Given the description of an element on the screen output the (x, y) to click on. 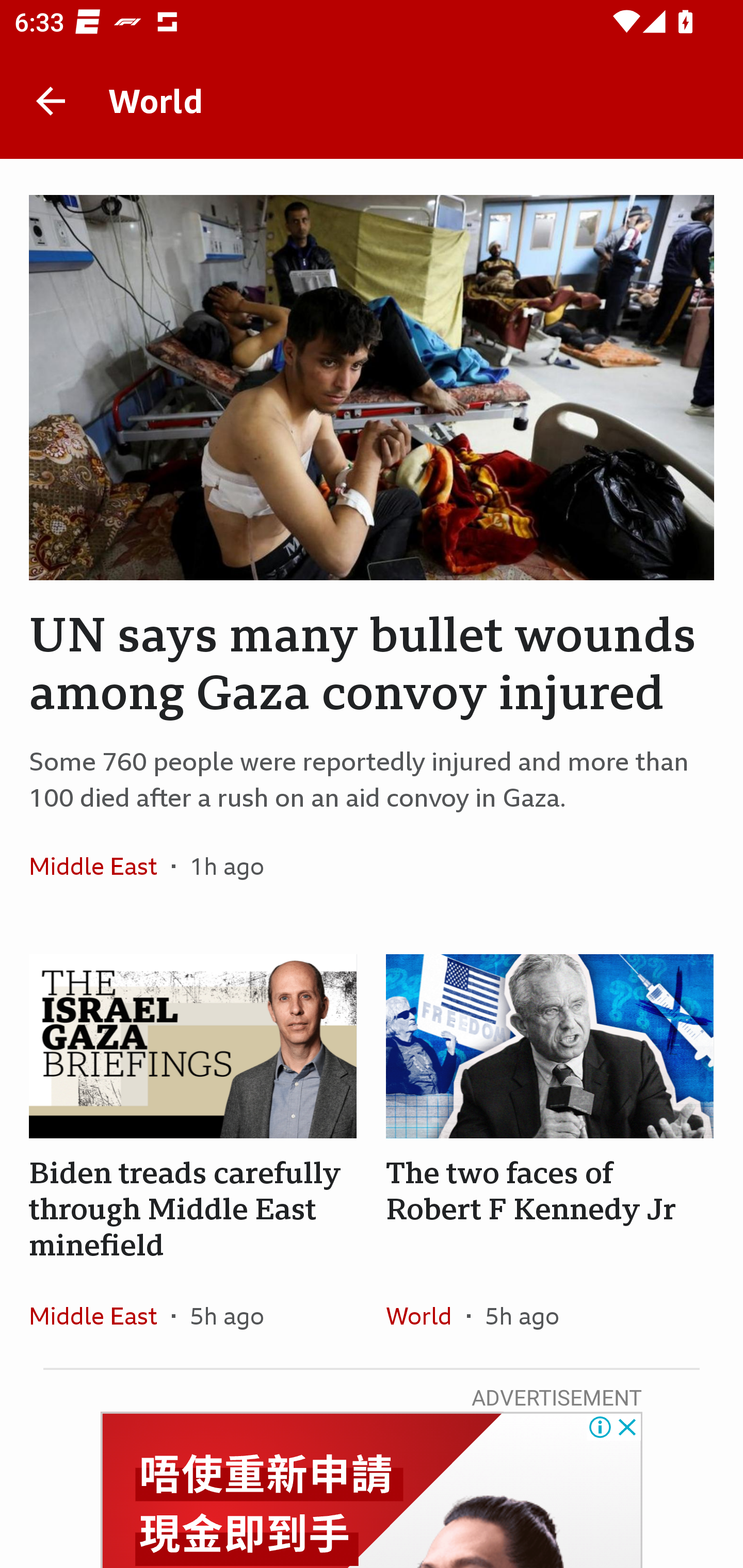
Back (50, 101)
Middle East In the section Middle East (99, 865)
Middle East In the section Middle East (99, 1315)
World In the section World (425, 1315)
300x250 (371, 1489)
